Given the description of an element on the screen output the (x, y) to click on. 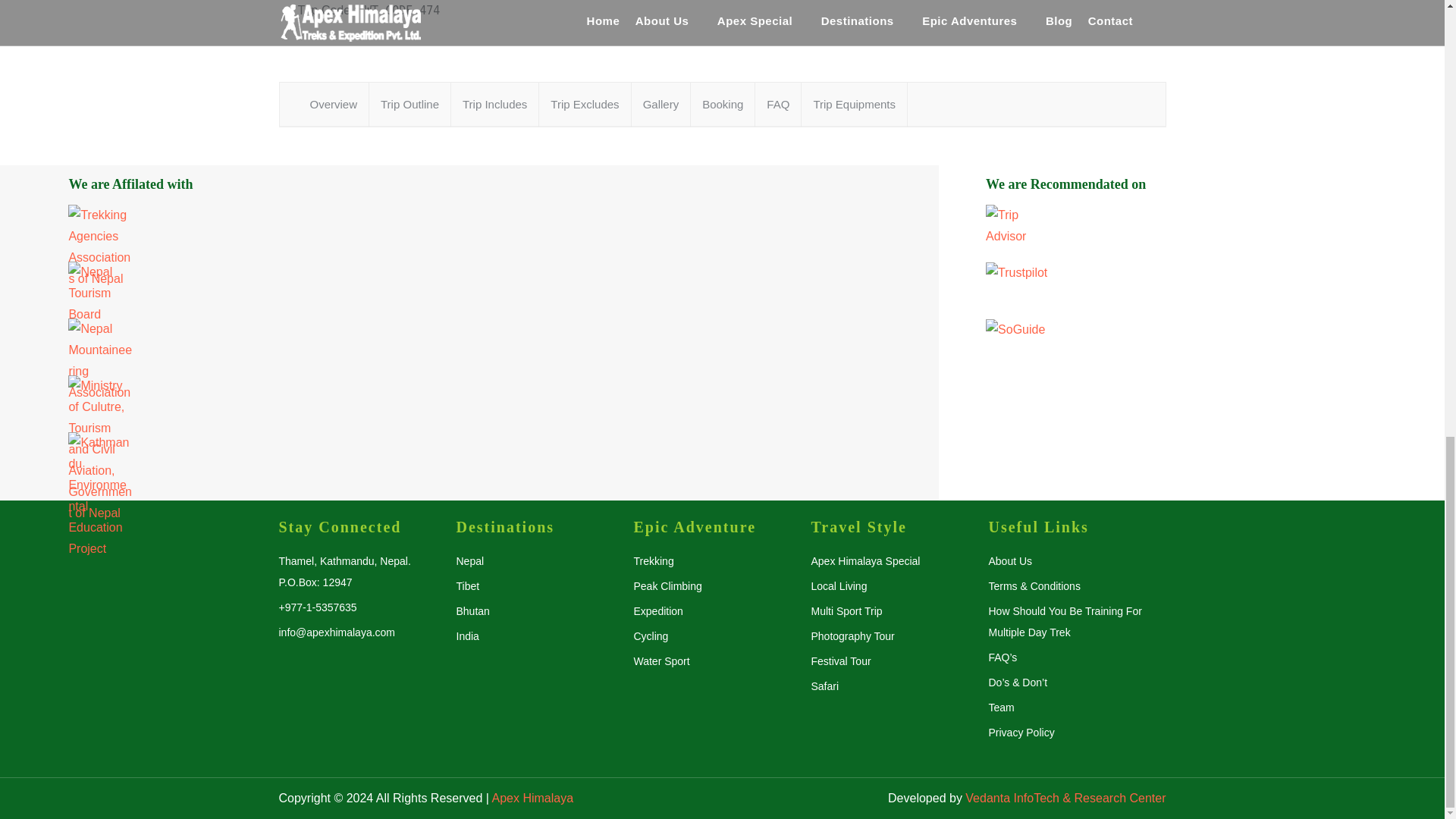
Kathmandu Environmental Education Project (468, 460)
Trip Advisor (1191, 232)
Trip Advisor (1017, 225)
Trekking Agencies Associations of Nepal (468, 232)
Nepal Mountaineering Association (468, 346)
Nepal Tourism Board (100, 293)
Trustpilot (1191, 289)
Nepal Tourism Board (468, 289)
